Given the description of an element on the screen output the (x, y) to click on. 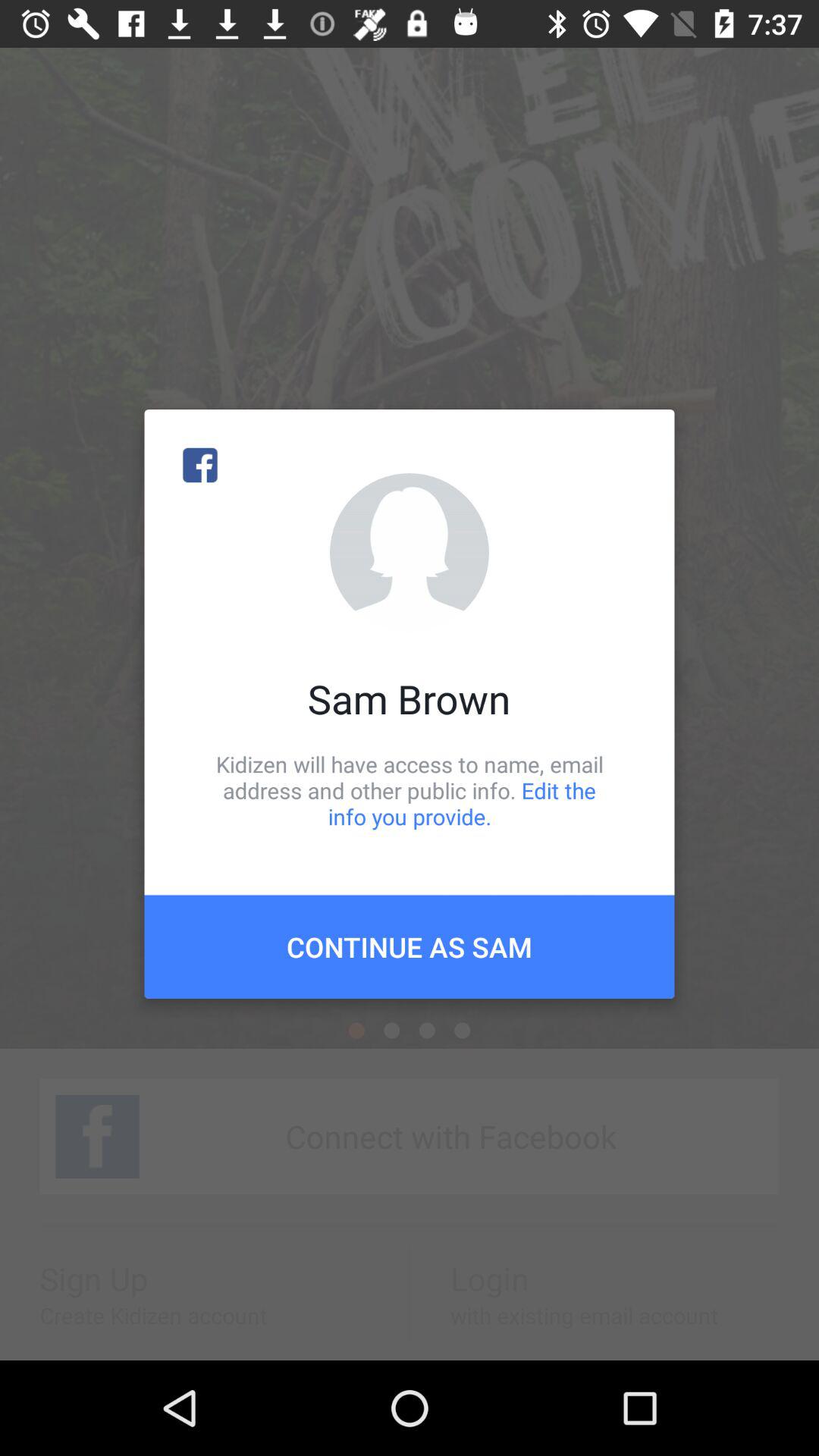
turn off kidizen will have icon (409, 790)
